Given the description of an element on the screen output the (x, y) to click on. 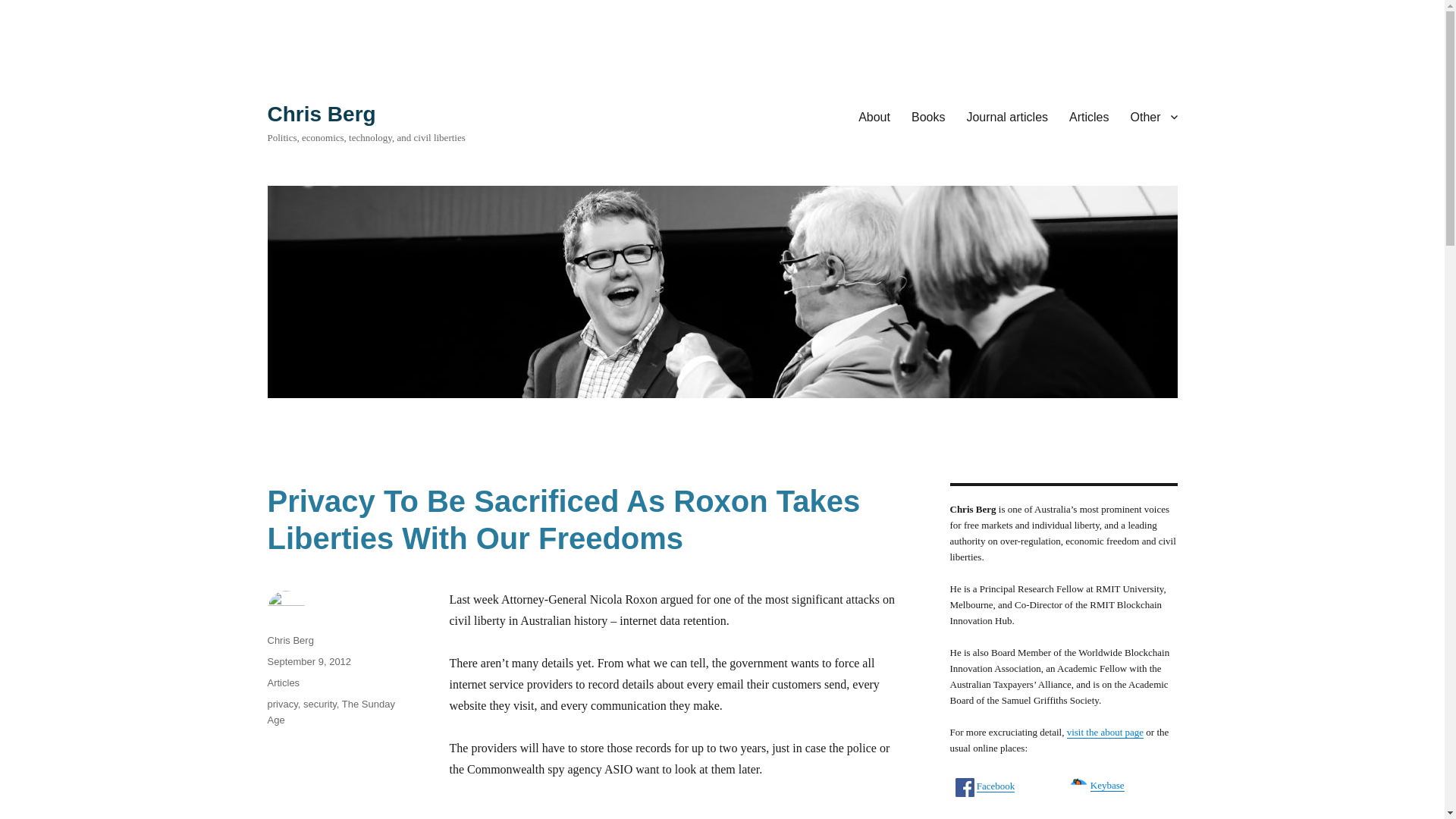
Articles (282, 682)
Chris Berg (320, 114)
September 9, 2012 (308, 661)
About (874, 116)
privacy (281, 704)
visit the about page (1104, 731)
Books (928, 116)
Chris Berg (289, 640)
Other (1153, 116)
security (319, 704)
